Given the description of an element on the screen output the (x, y) to click on. 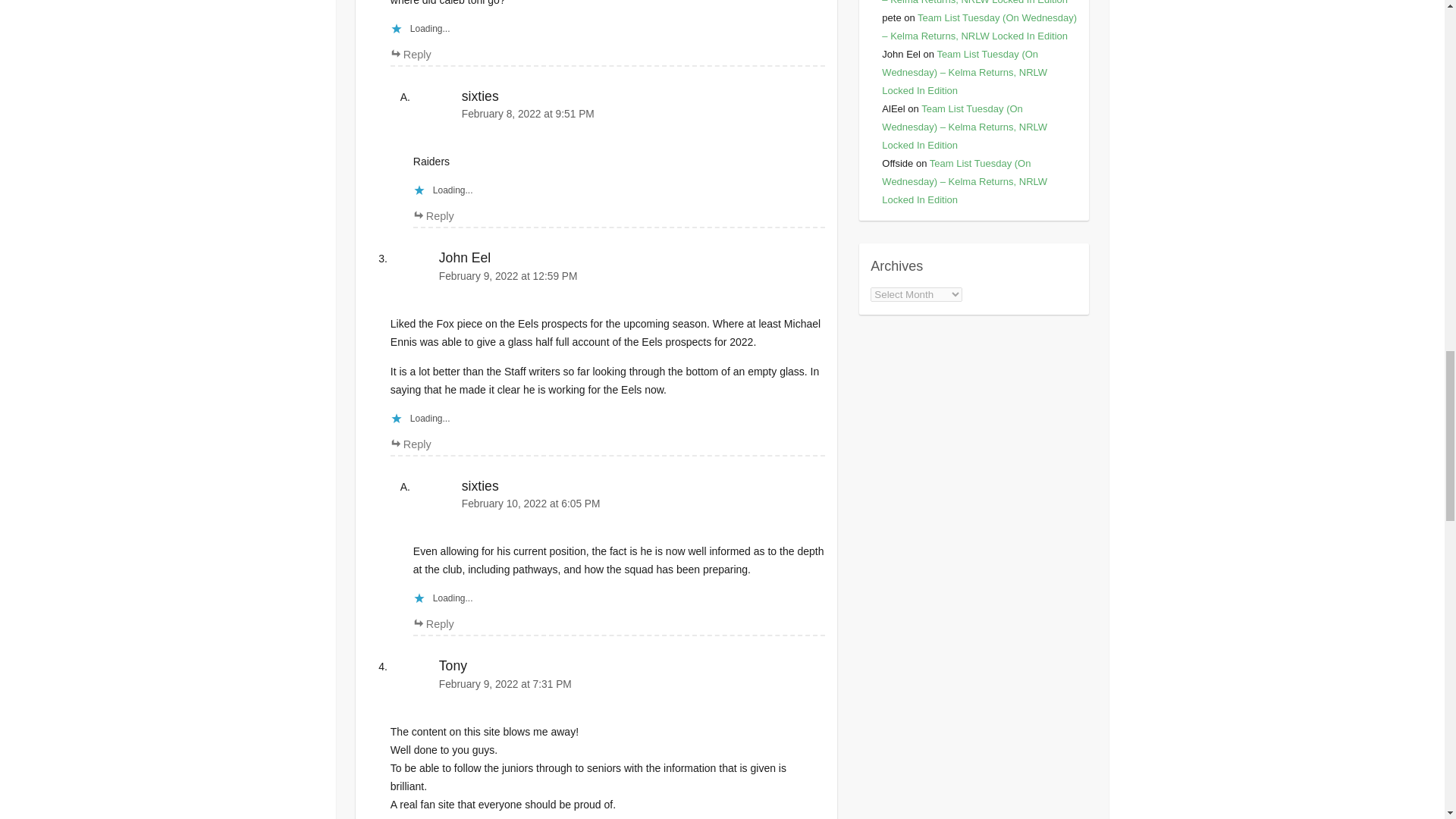
Reply (433, 215)
February 8, 2022 at 9:51 PM (619, 113)
February 9, 2022 at 12:59 PM (607, 276)
Reply (410, 54)
